Given the description of an element on the screen output the (x, y) to click on. 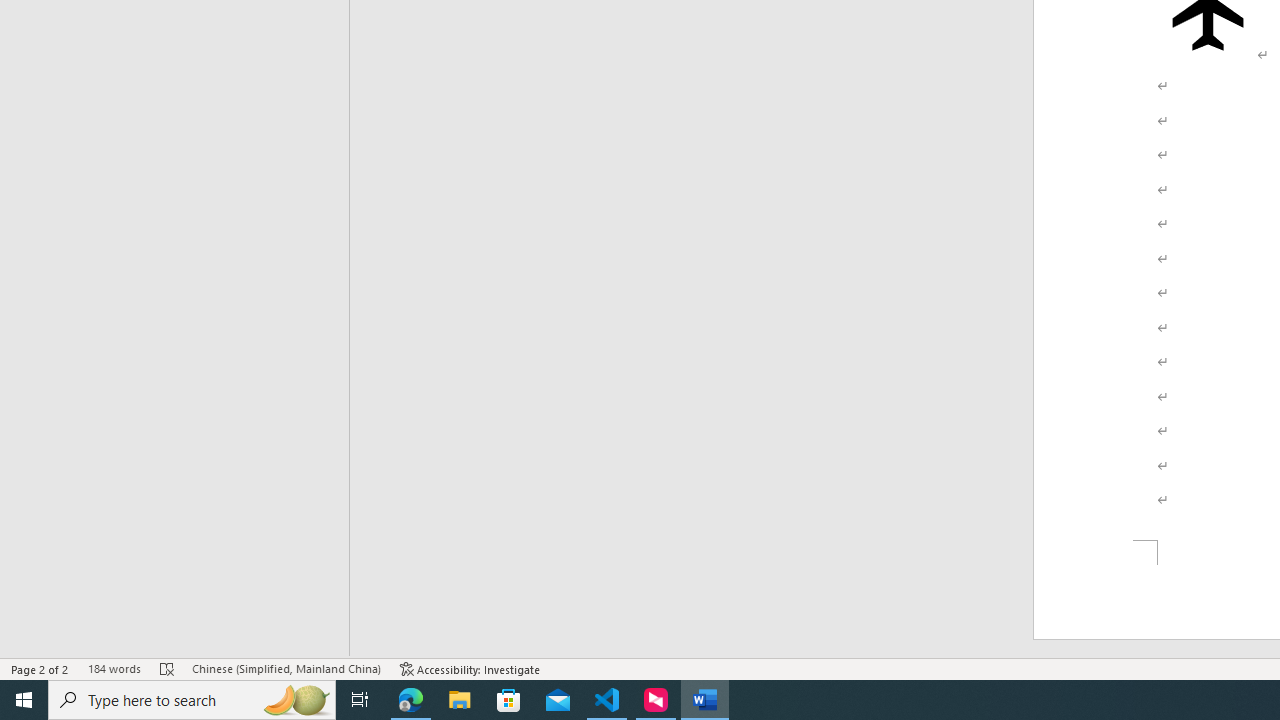
Word Count 184 words (113, 668)
Language Chinese (Simplified, Mainland China) (286, 668)
Page Number Page 2 of 2 (39, 668)
Accessibility Checker Accessibility: Investigate (470, 668)
Spelling and Grammar Check Errors (168, 668)
